Given the description of an element on the screen output the (x, y) to click on. 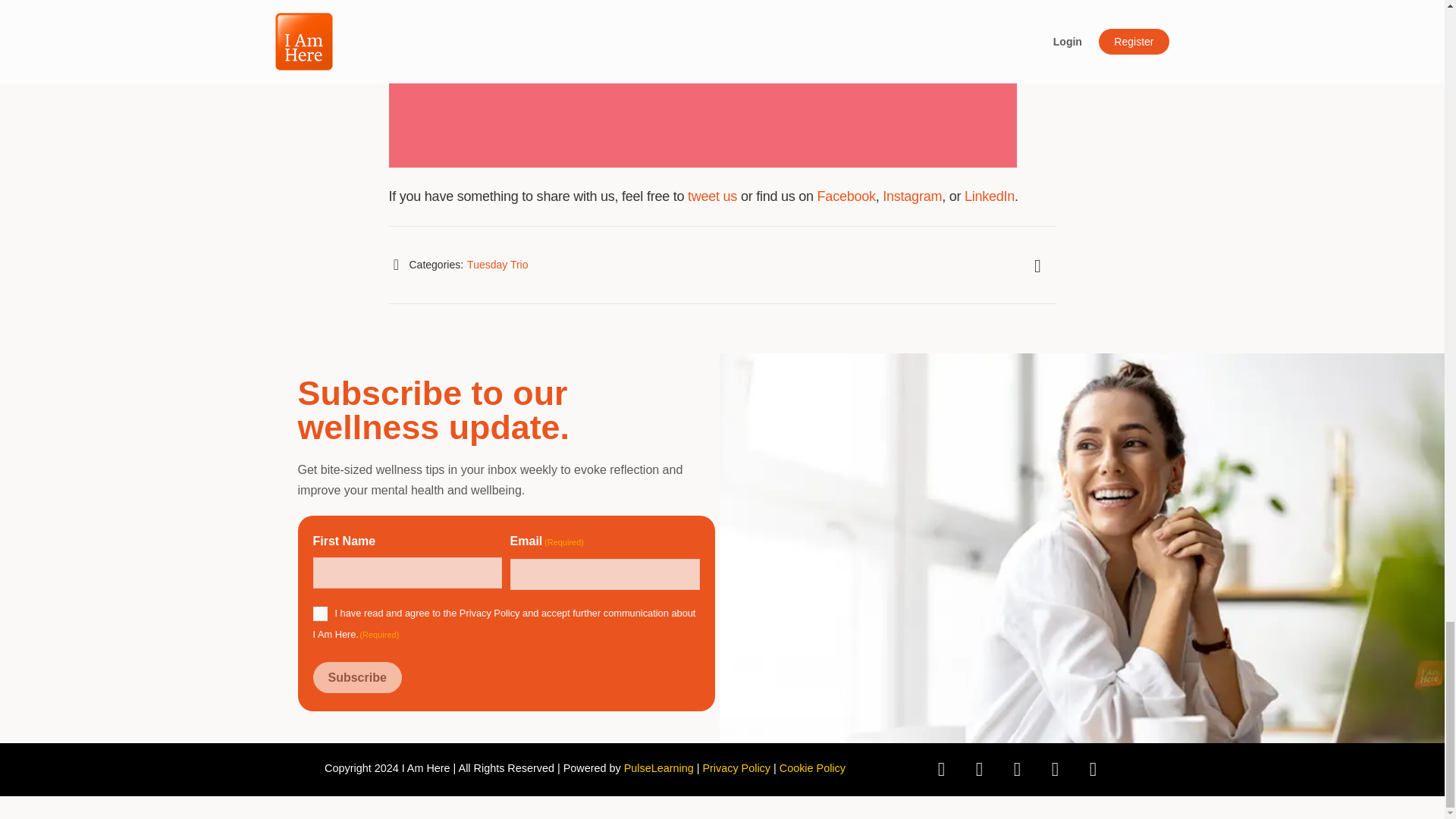
Facebook (846, 196)
PulseLearning (659, 767)
Cookie Policy (811, 767)
Subscribe (357, 676)
tweet us (711, 196)
LinkedIn (988, 196)
Privacy Policy (489, 613)
Instagram (912, 196)
Tuesday Trio (497, 264)
Subscribe (357, 676)
